Given the description of an element on the screen output the (x, y) to click on. 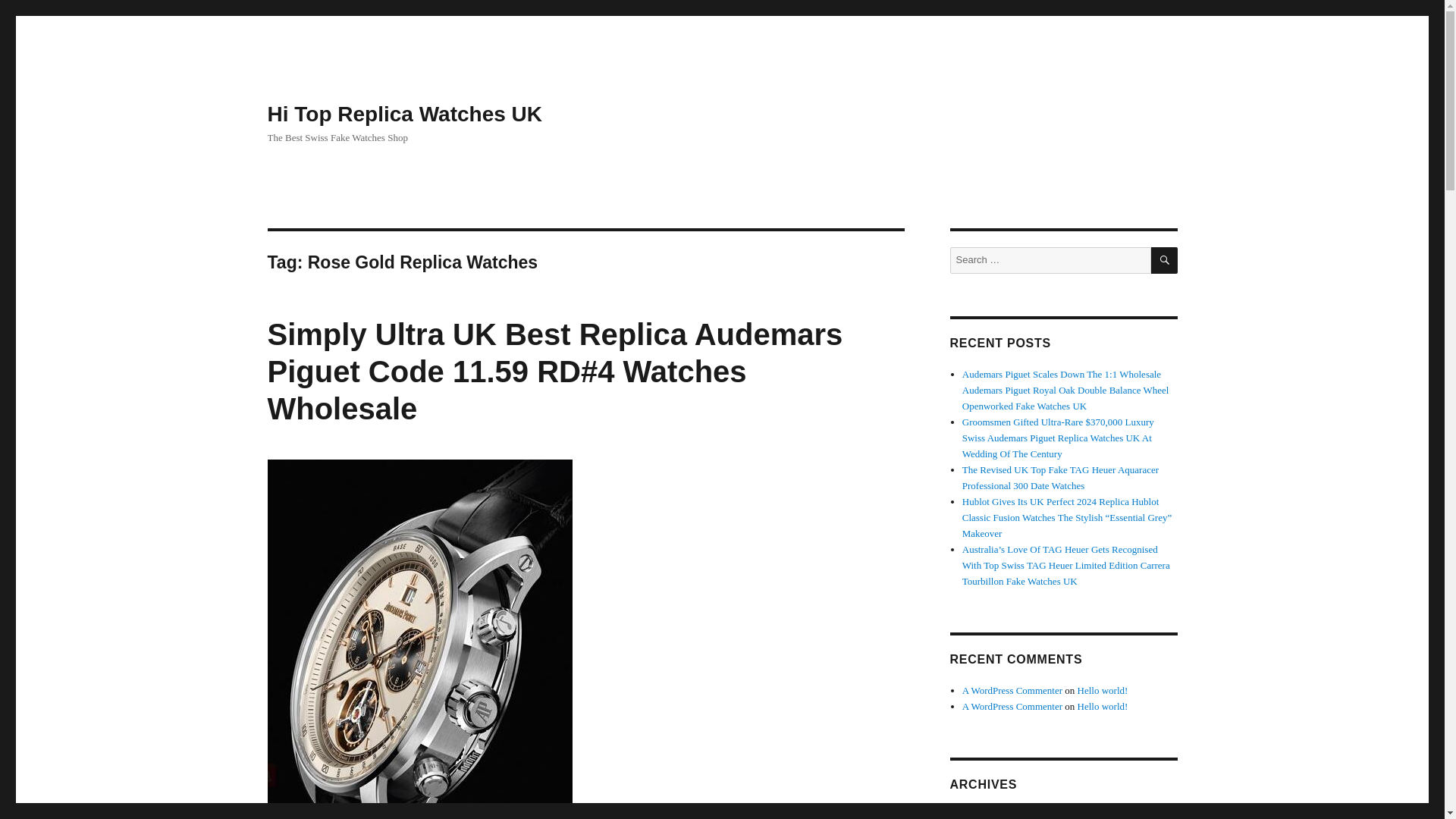
A WordPress Commenter (1012, 690)
Hello world! (1102, 706)
A WordPress Commenter (1012, 706)
Hi Top Replica Watches UK (403, 114)
Hello world! (1102, 690)
SEARCH (1164, 260)
